Given the description of an element on the screen output the (x, y) to click on. 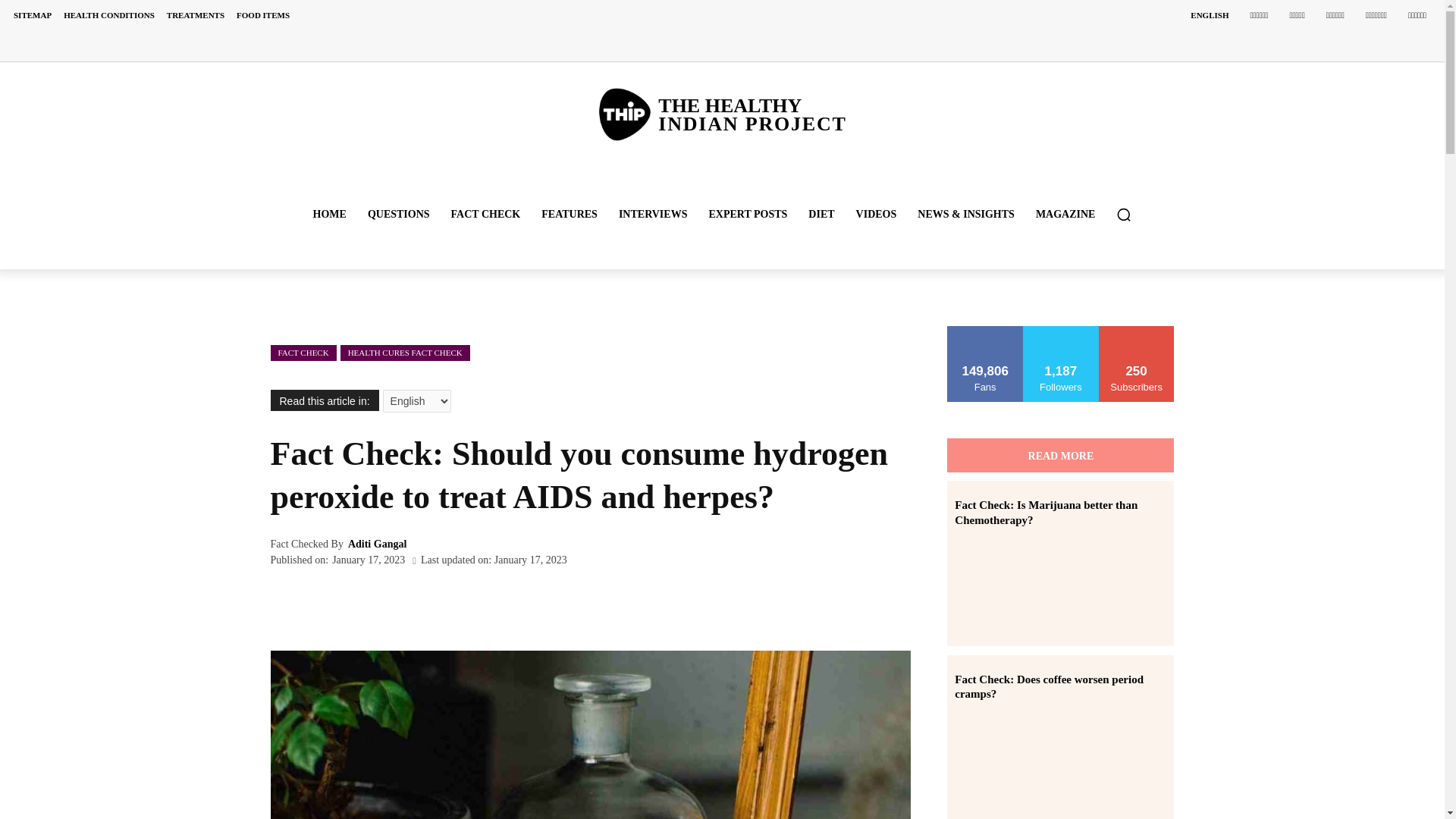
FACT CHECK (486, 214)
EXPERT POSTS (747, 214)
HOME (329, 214)
ENGLISH (1209, 14)
INTERVIEWS (653, 214)
VIDEOS (876, 214)
FEATURES (569, 214)
TREATMENTS (195, 15)
QUESTIONS (398, 214)
